Given the description of an element on the screen output the (x, y) to click on. 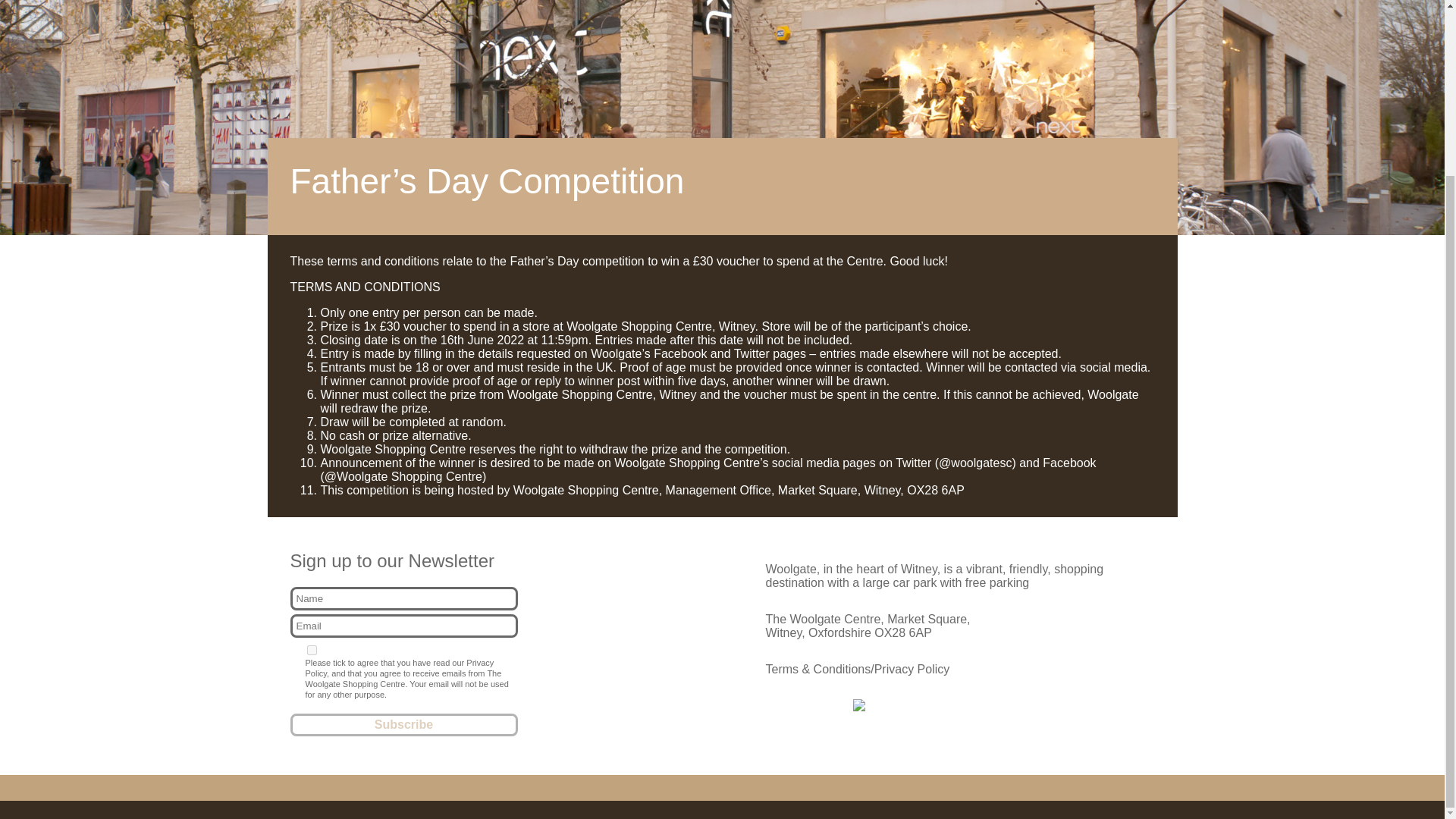
1 (310, 650)
Subscribe (402, 724)
Subscribe (402, 724)
Privacy Policy (398, 668)
Privacy Policy (912, 668)
